Given the description of an element on the screen output the (x, y) to click on. 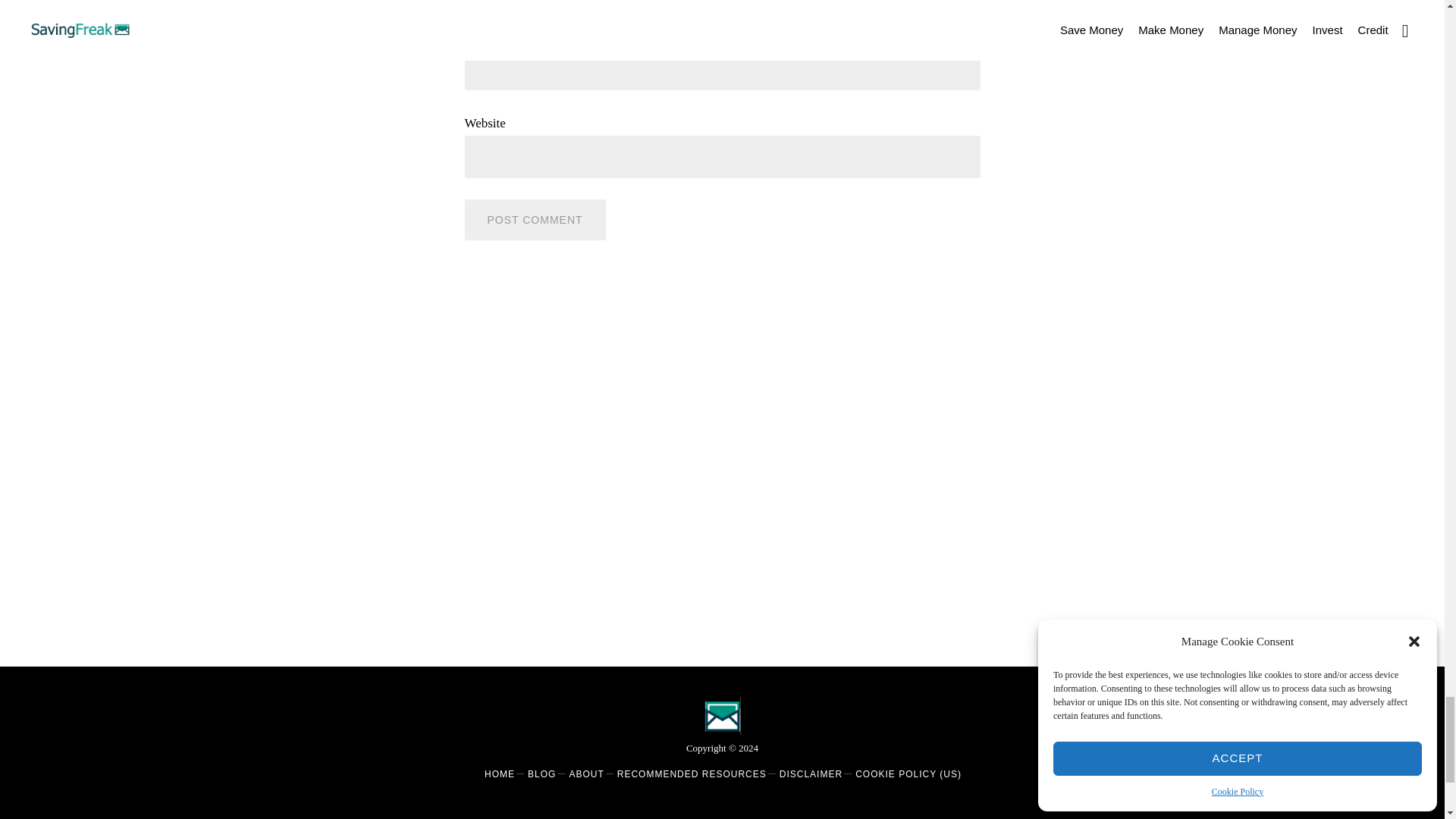
Post Comment (534, 219)
